Given the description of an element on the screen output the (x, y) to click on. 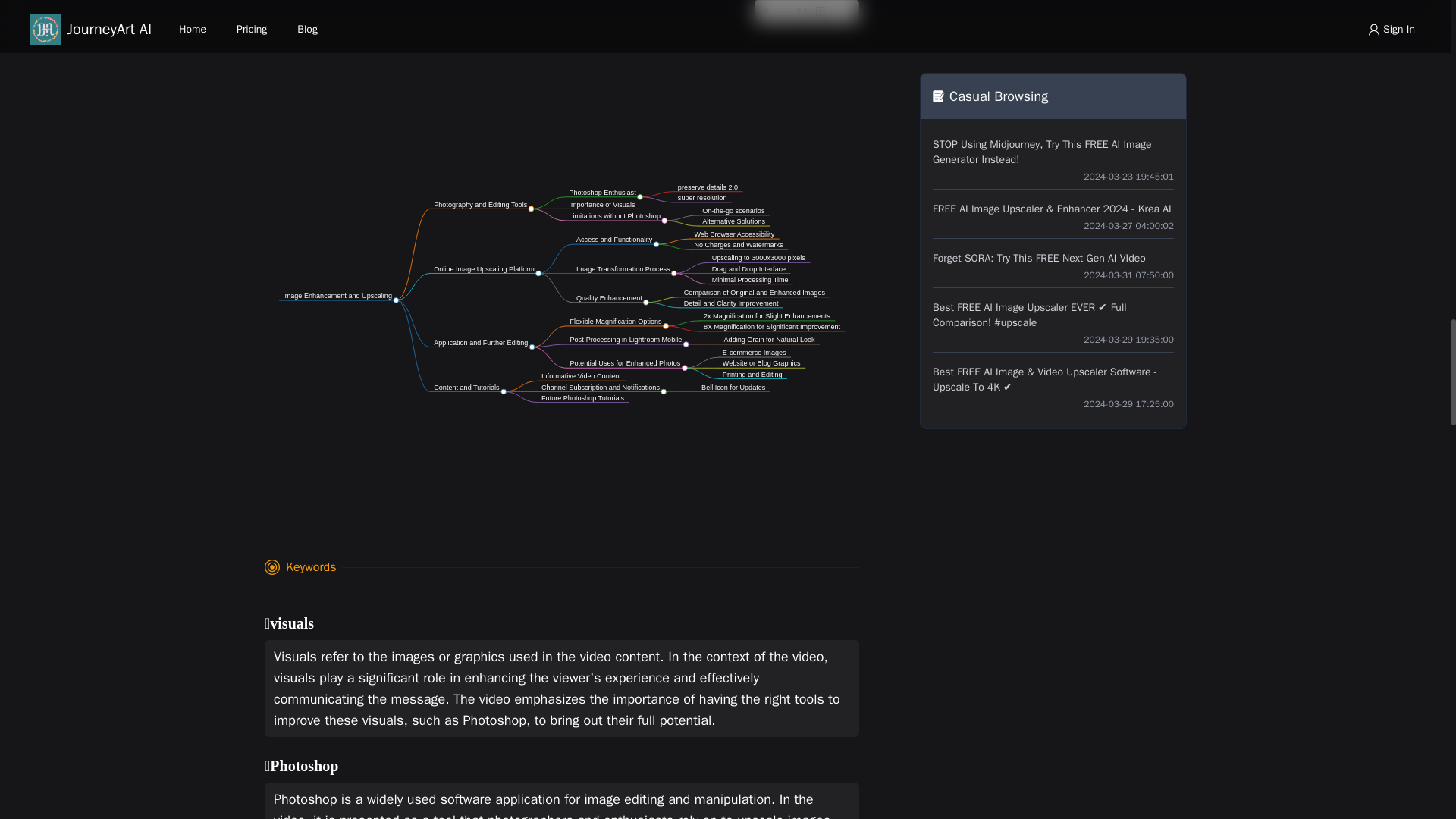
Zoom out (784, 11)
Click to show an alert (843, 10)
Zoom in (765, 11)
Toggle recursively (820, 11)
Fit window size (801, 11)
